Given the description of an element on the screen output the (x, y) to click on. 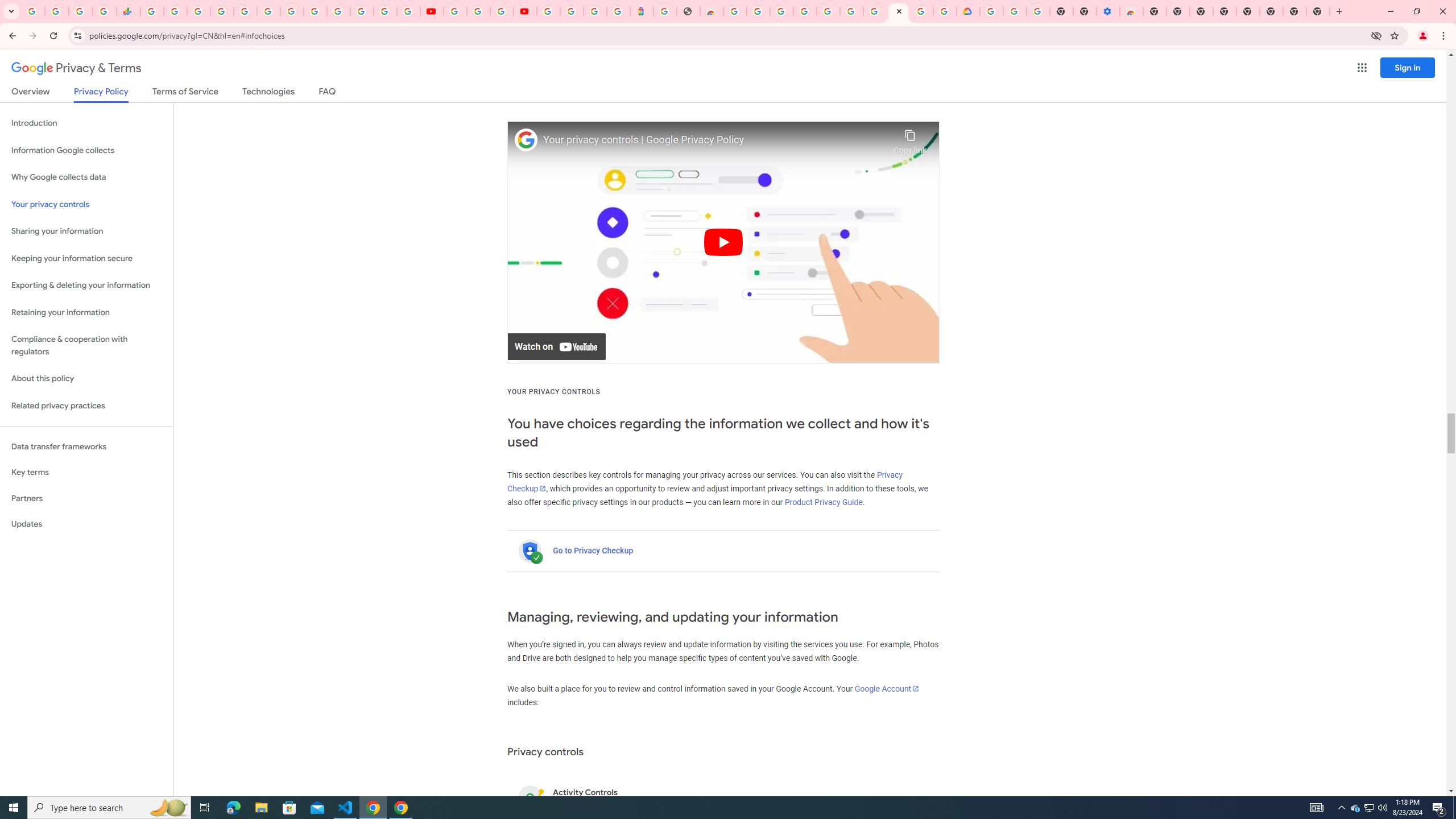
YouTube (314, 11)
YouTube (431, 11)
Google Account Help (874, 11)
Atour Hotel - Google hotels (641, 11)
Go to Privacy Checkup (593, 550)
